Given the description of an element on the screen output the (x, y) to click on. 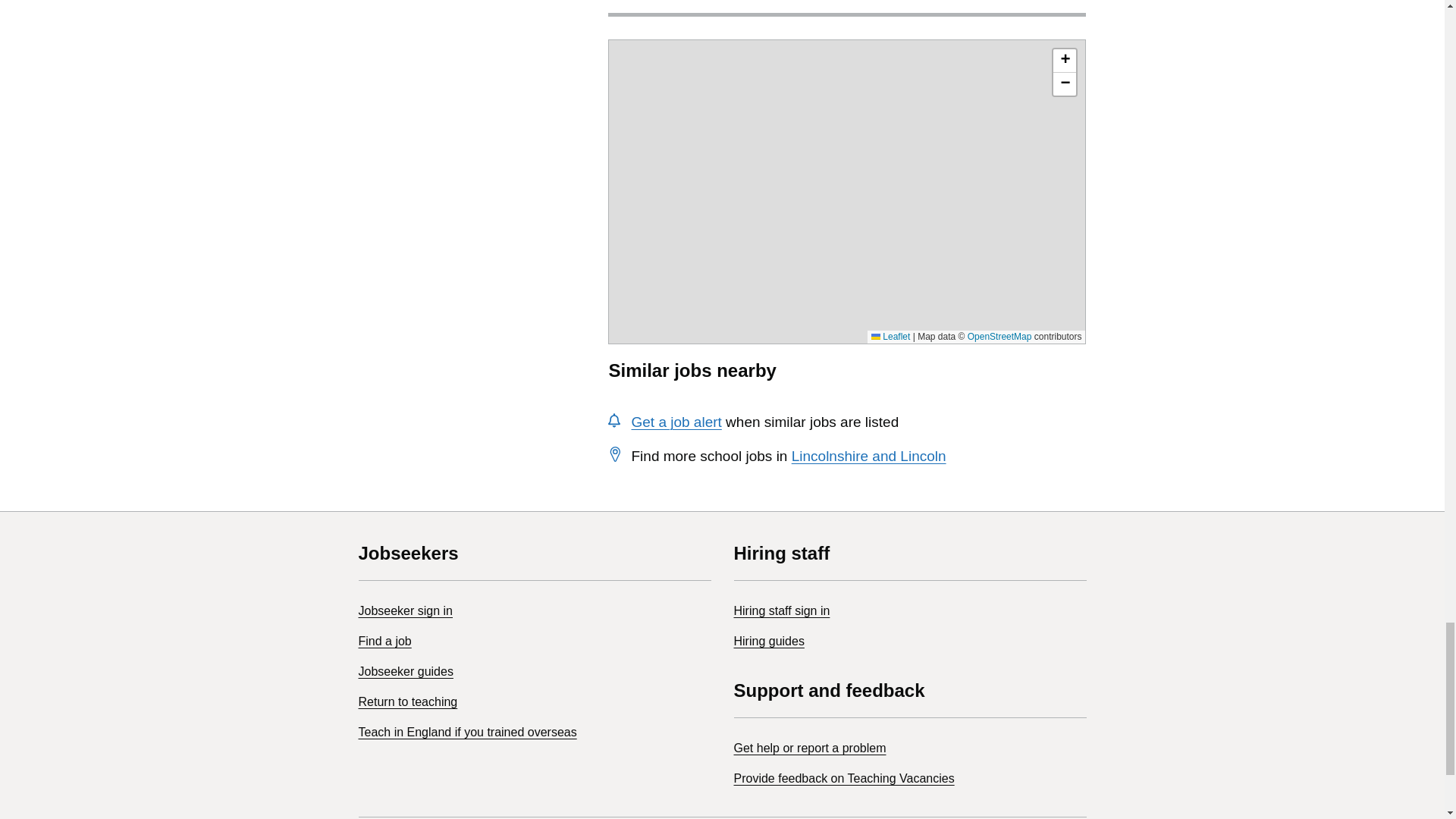
A JavaScript library for interactive maps (890, 336)
Get help or report a problem (809, 748)
Find a job (384, 640)
Hiring guides (769, 640)
Return to teaching (407, 701)
Zoom in (1063, 60)
Jobseeker sign in (405, 610)
Leaflet (890, 336)
Zoom out (1063, 83)
Lincolnshire and Lincoln (869, 455)
Provide feedback on Teaching Vacancies (844, 778)
Jobseeker guides (405, 671)
Hiring staff sign in (781, 610)
Get a job alert (675, 421)
OpenStreetMap (1000, 336)
